Given the description of an element on the screen output the (x, y) to click on. 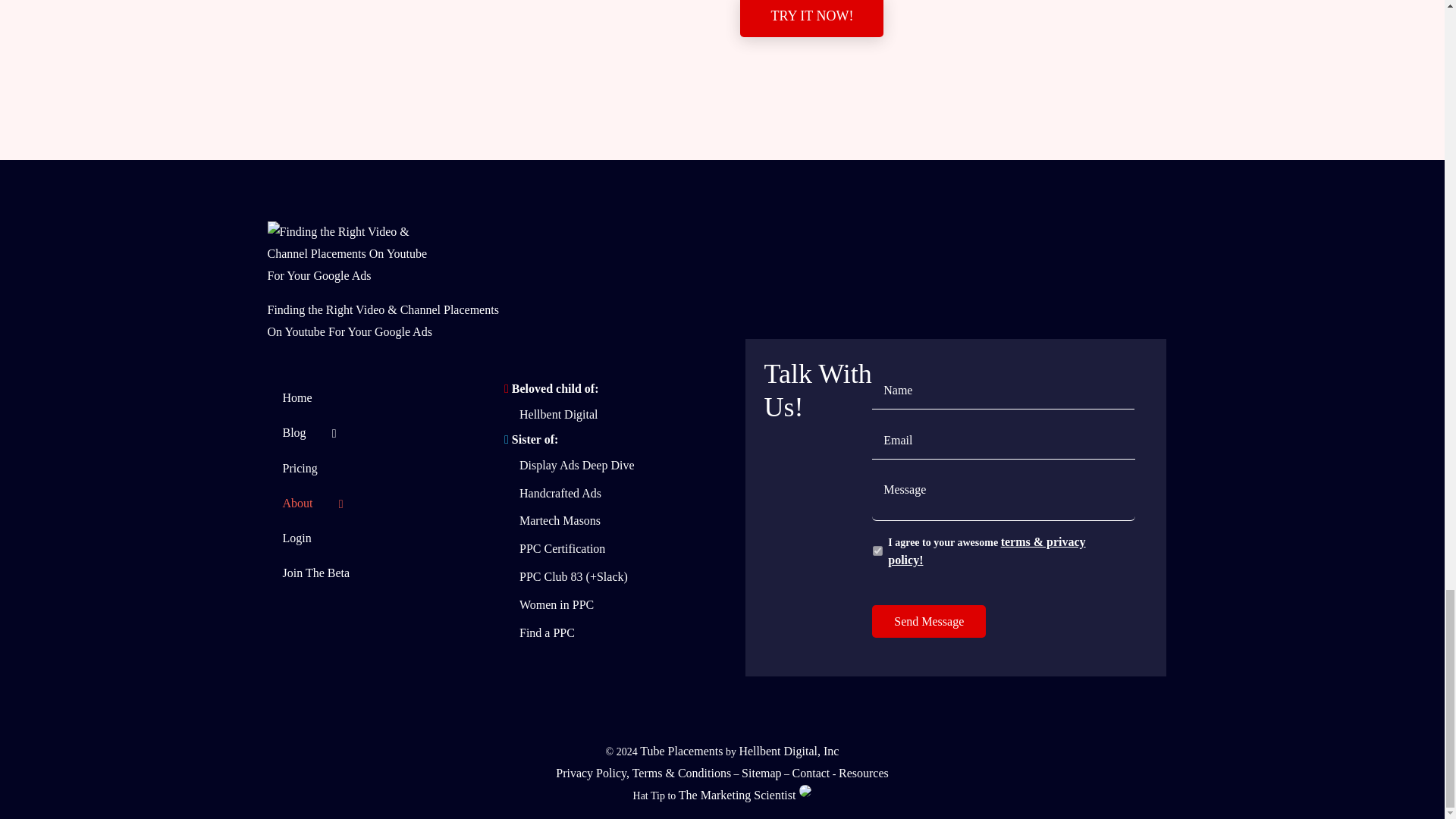
About (376, 504)
Pricing (376, 469)
Blog (376, 434)
True (877, 551)
TRY IT NOW! (811, 18)
Send Message (928, 621)
Home (376, 398)
